Given the description of an element on the screen output the (x, y) to click on. 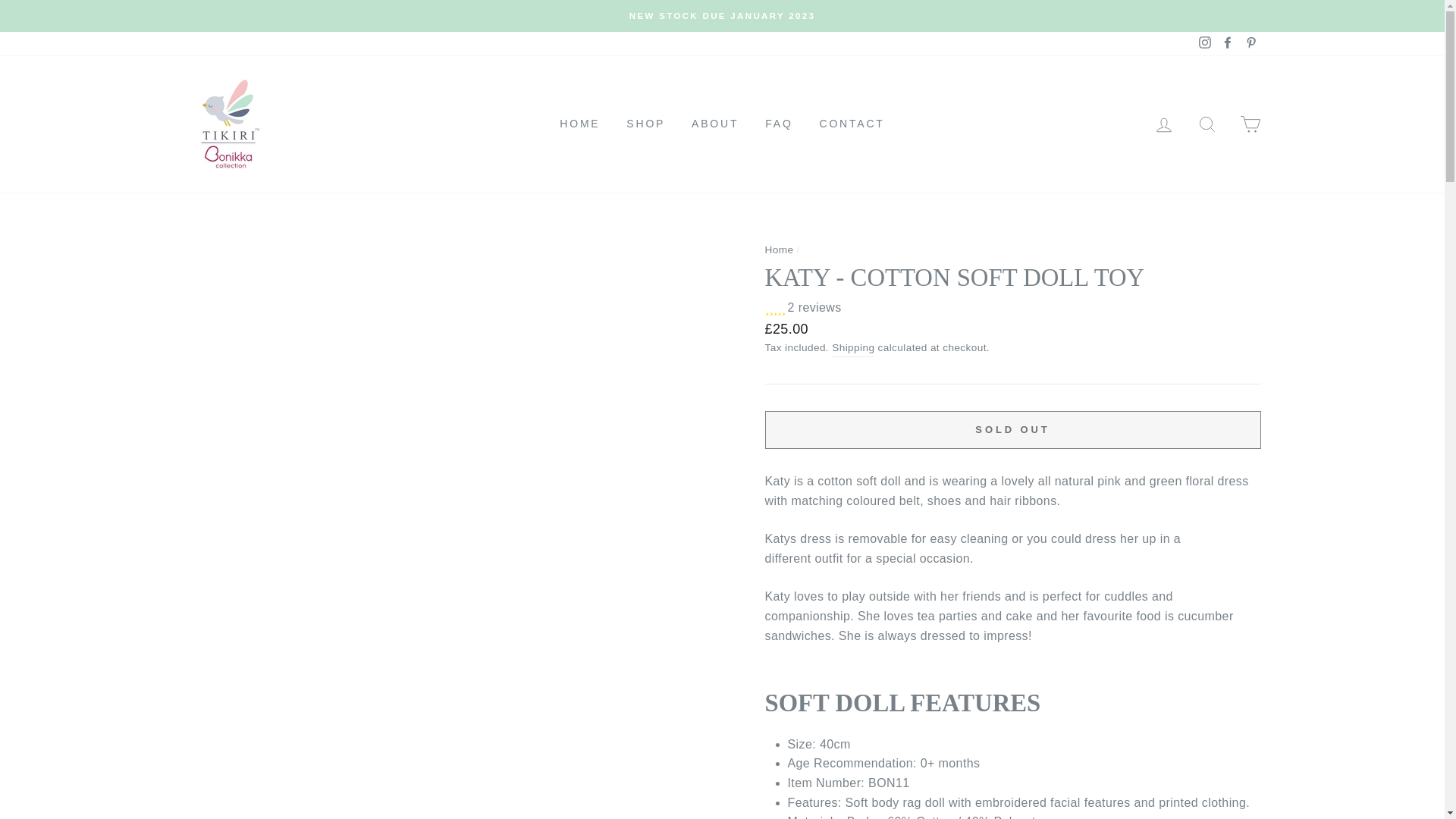
LOG IN (1163, 123)
SHOP (645, 123)
Back to the frontpage (778, 249)
CONTACT (851, 123)
HOME (579, 123)
CART (1249, 123)
FAQ (778, 123)
SEARCH (1207, 123)
ABOUT (714, 123)
